Given the description of an element on the screen output the (x, y) to click on. 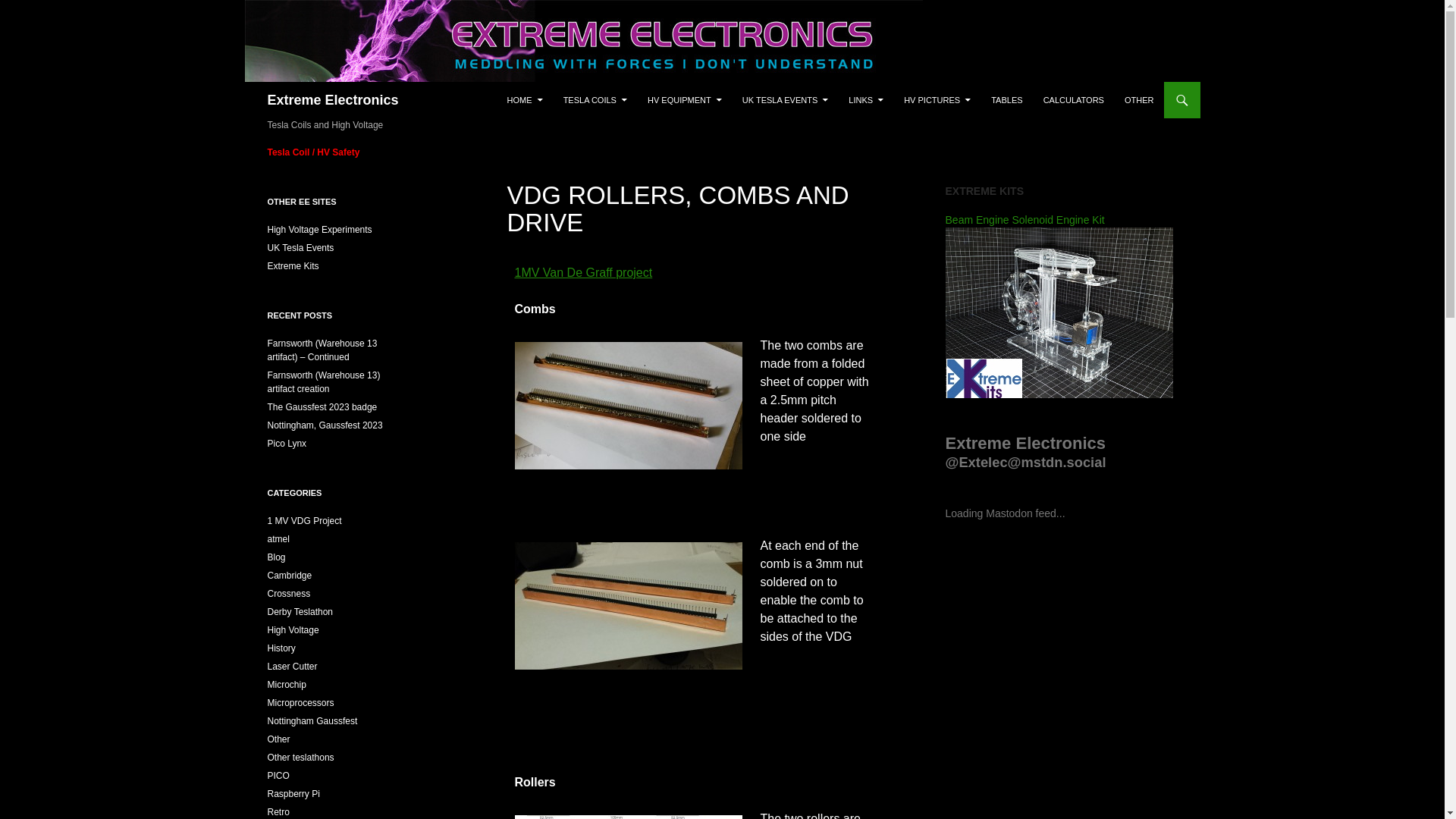
1MV Van de Graff Project (582, 272)
LINKS (866, 99)
Beam Engine Solenoid Engine Kit (1058, 265)
UK TESLA EVENTS (785, 99)
HV EQUIPMENT (684, 99)
OTHER (1139, 99)
CALCULATORS (1073, 99)
Extreme Electronics (331, 99)
HV PICTURES (937, 99)
1MV Van De Graff project (582, 272)
HOME (524, 99)
TABLES (1005, 99)
TESLA COILS (595, 99)
